Given the description of an element on the screen output the (x, y) to click on. 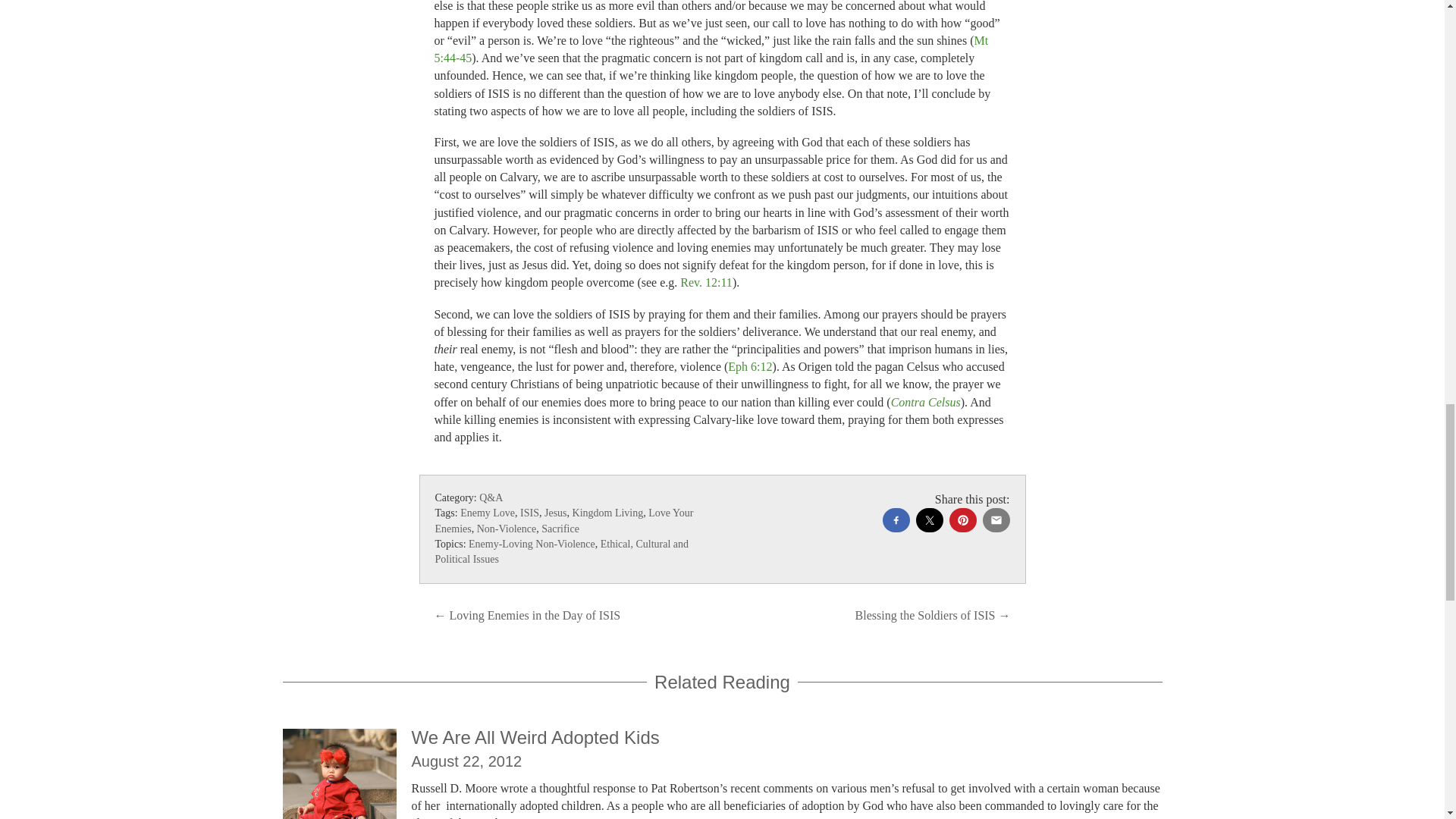
Sacrifice (560, 528)
Enemy-Loving Non-Violence (531, 543)
Rev. 12:11 (705, 282)
Ethical, Cultural and Political Issues (561, 551)
We Are All Weird Adopted Kids (534, 737)
Jesus (555, 512)
Enemy Love (487, 512)
ISIS (528, 512)
Love Your Enemies (564, 519)
Mt 5:44-45 (710, 49)
Kingdom Living (607, 512)
Non-Violence (506, 528)
Eph 6:12 (749, 366)
Contra Celsus (925, 401)
